Given the description of an element on the screen output the (x, y) to click on. 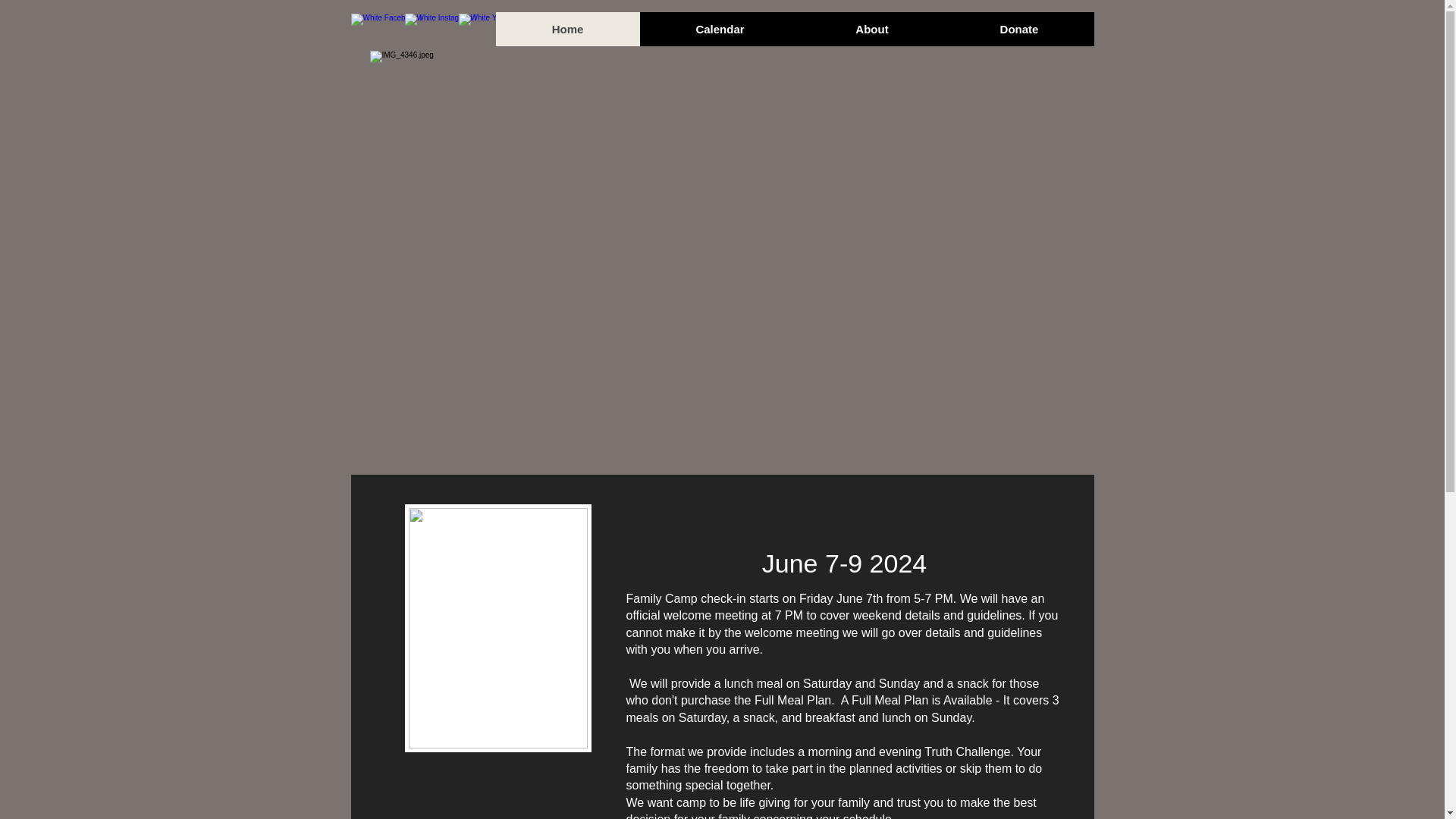
Home (568, 28)
Donate (1018, 28)
Calendar (719, 28)
About (871, 28)
